Given the description of an element on the screen output the (x, y) to click on. 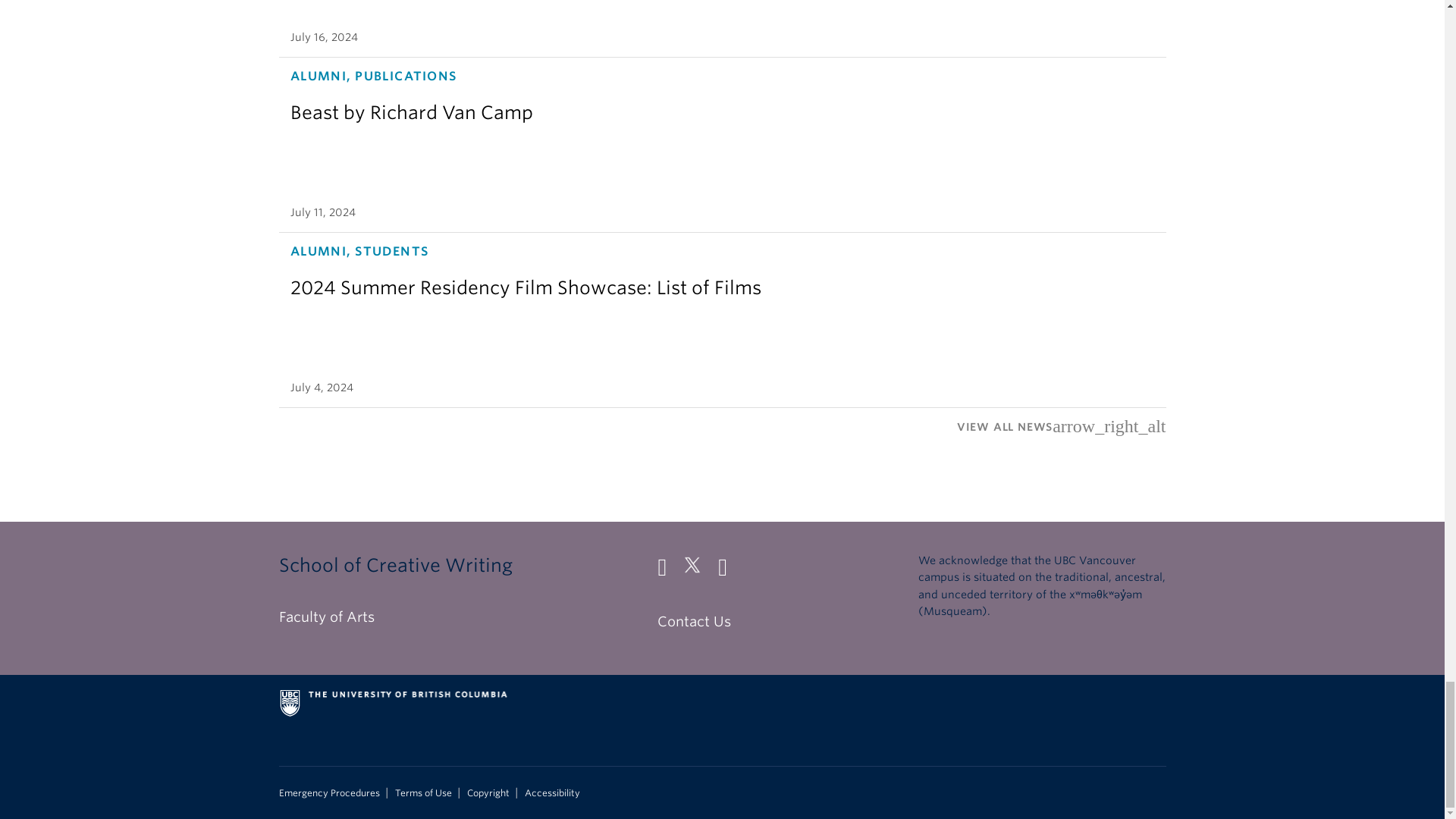
Instagram (727, 570)
Facebook icon (668, 570)
Twitter icon (697, 570)
